Given the description of an element on the screen output the (x, y) to click on. 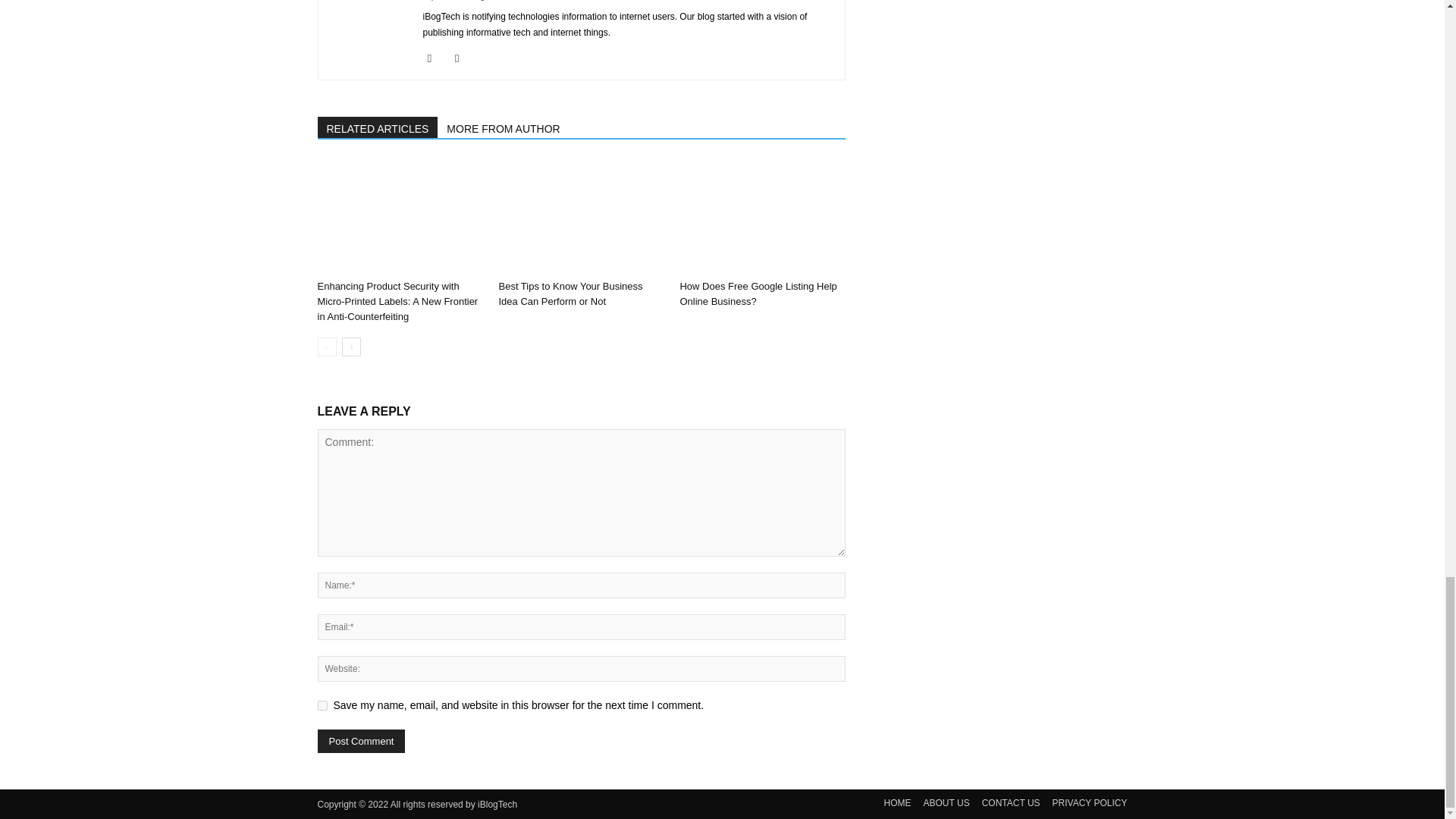
Post Comment (360, 740)
yes (321, 705)
